Given the description of an element on the screen output the (x, y) to click on. 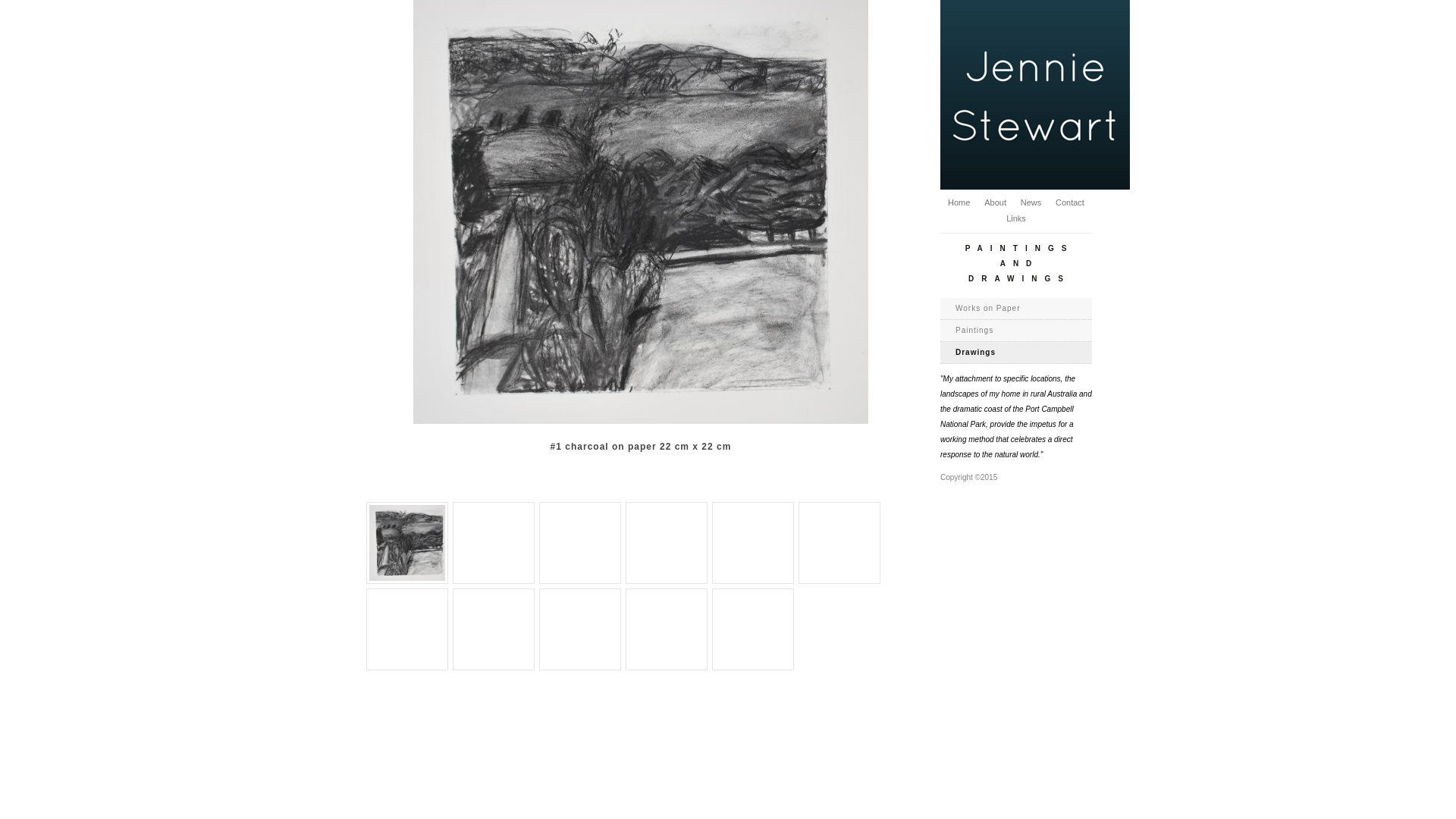
News Element type: text (1031, 202)
Links Element type: text (1016, 217)
#1 charcoal on paper 22 cm x 22 cm Element type: hover (409, 542)
Home Element type: text (958, 202)
Contact Element type: text (1069, 202)
Paintings Element type: text (1016, 331)
Drawings Element type: text (1016, 353)
About Element type: text (995, 202)
Works on Paper Element type: text (1016, 309)
